Given the description of an element on the screen output the (x, y) to click on. 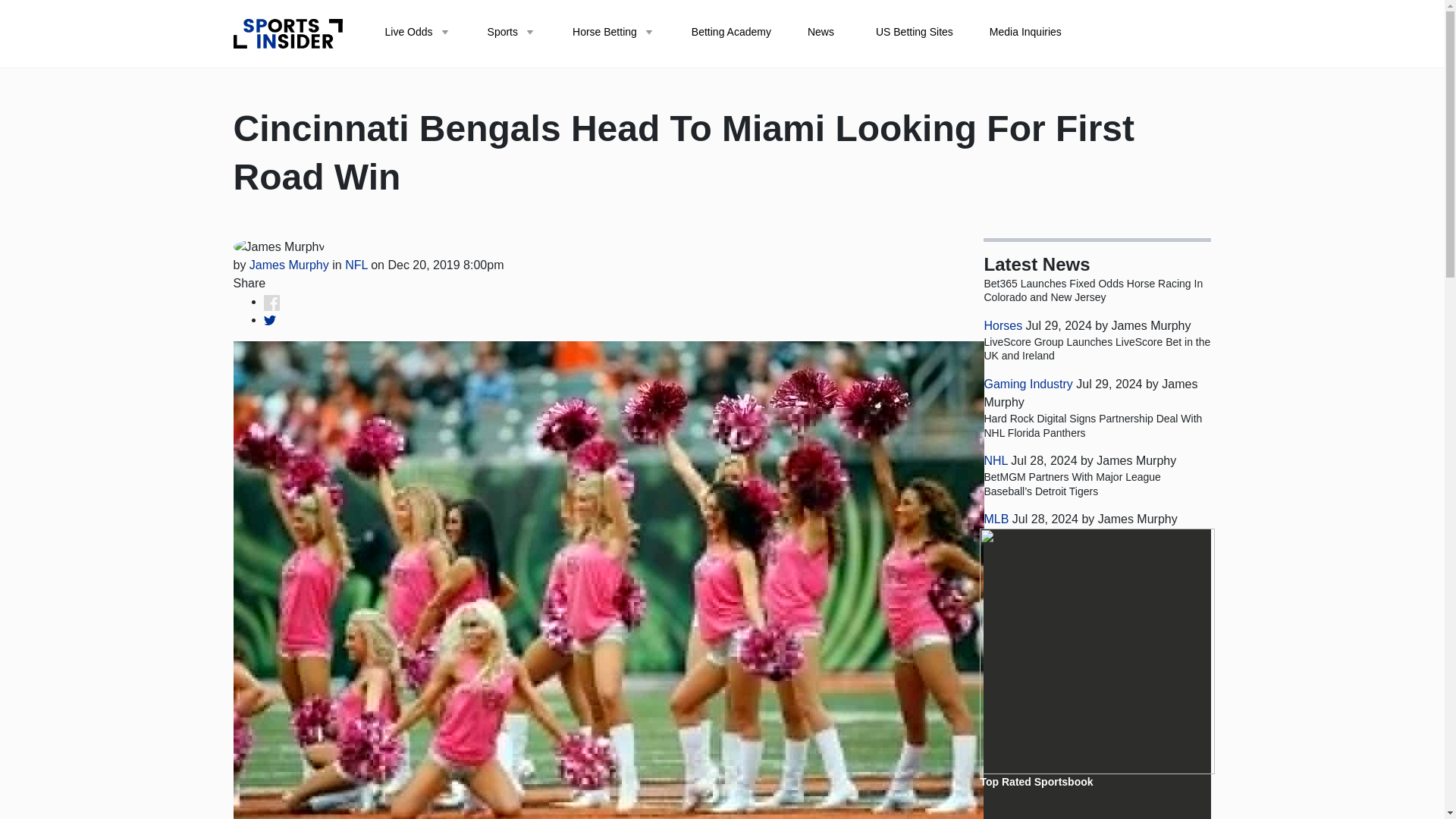
Sports (511, 33)
Sports (511, 33)
Live Odds (417, 33)
Live Odds (417, 33)
